Given the description of an element on the screen output the (x, y) to click on. 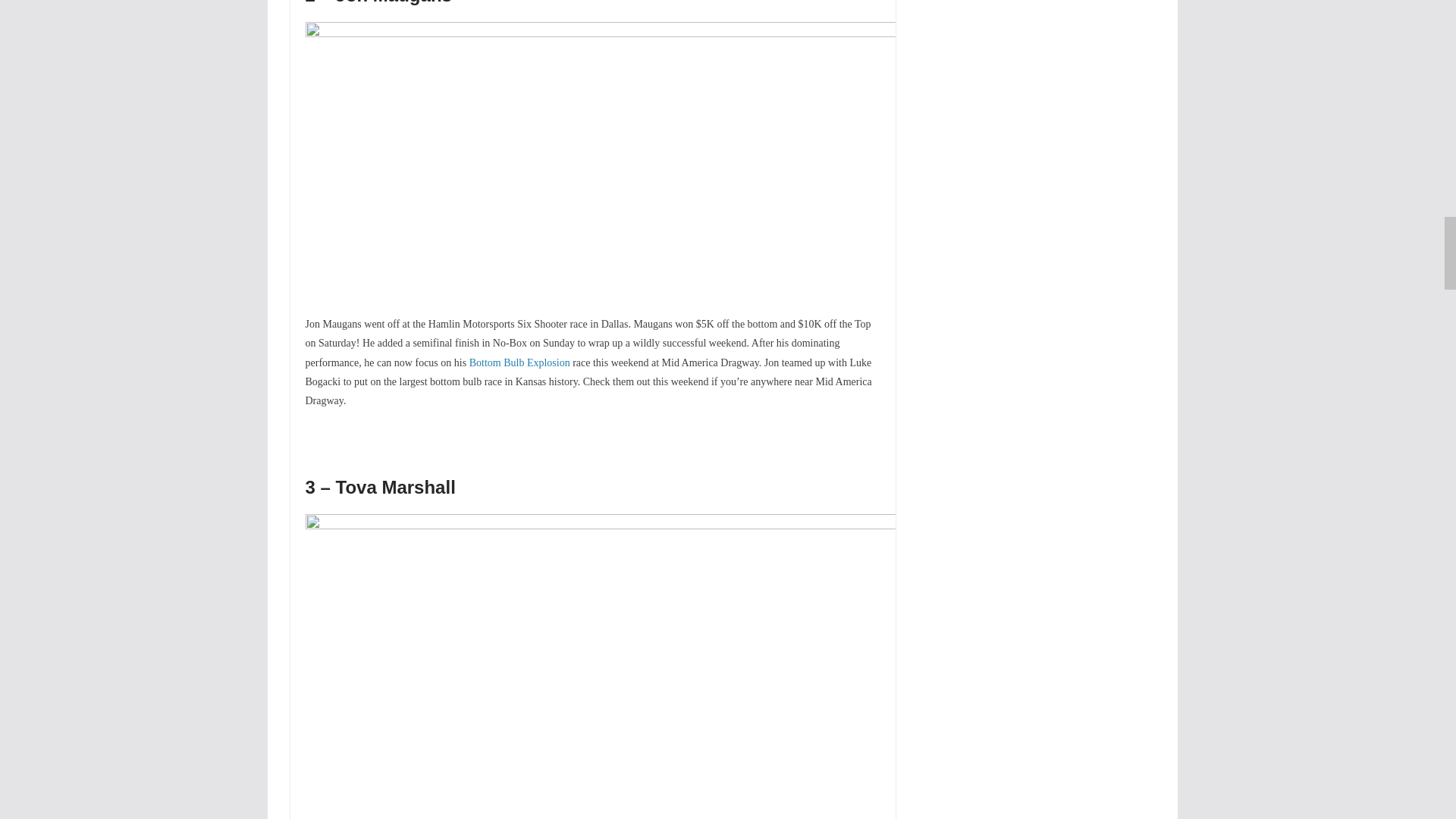
Bottom Bulb Explosion (519, 362)
